Given the description of an element on the screen output the (x, y) to click on. 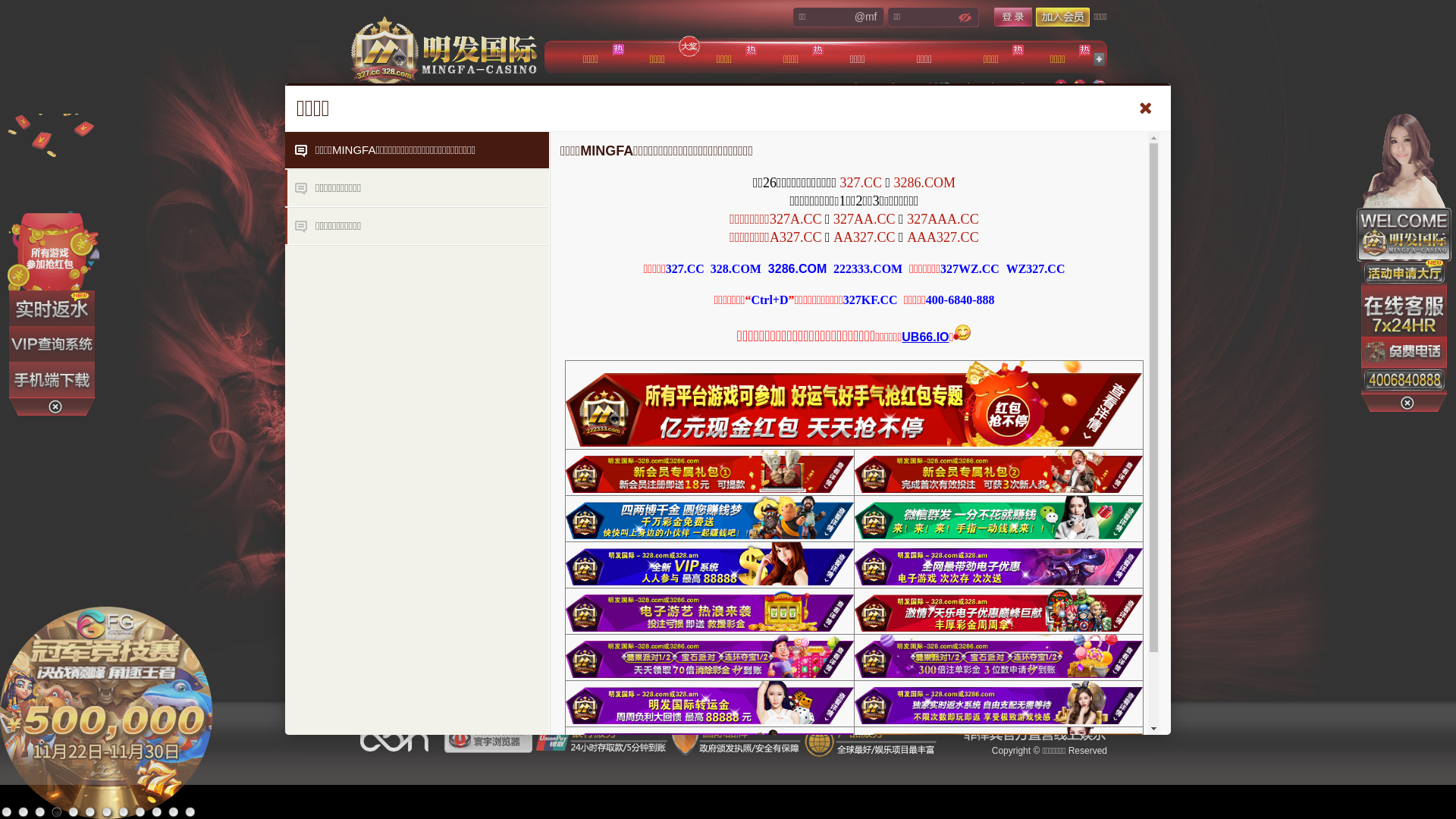
327KF.CC Element type: text (870, 299)
UB66.IO Element type: text (924, 336)
English Element type: hover (1098, 86)
